Given the description of an element on the screen output the (x, y) to click on. 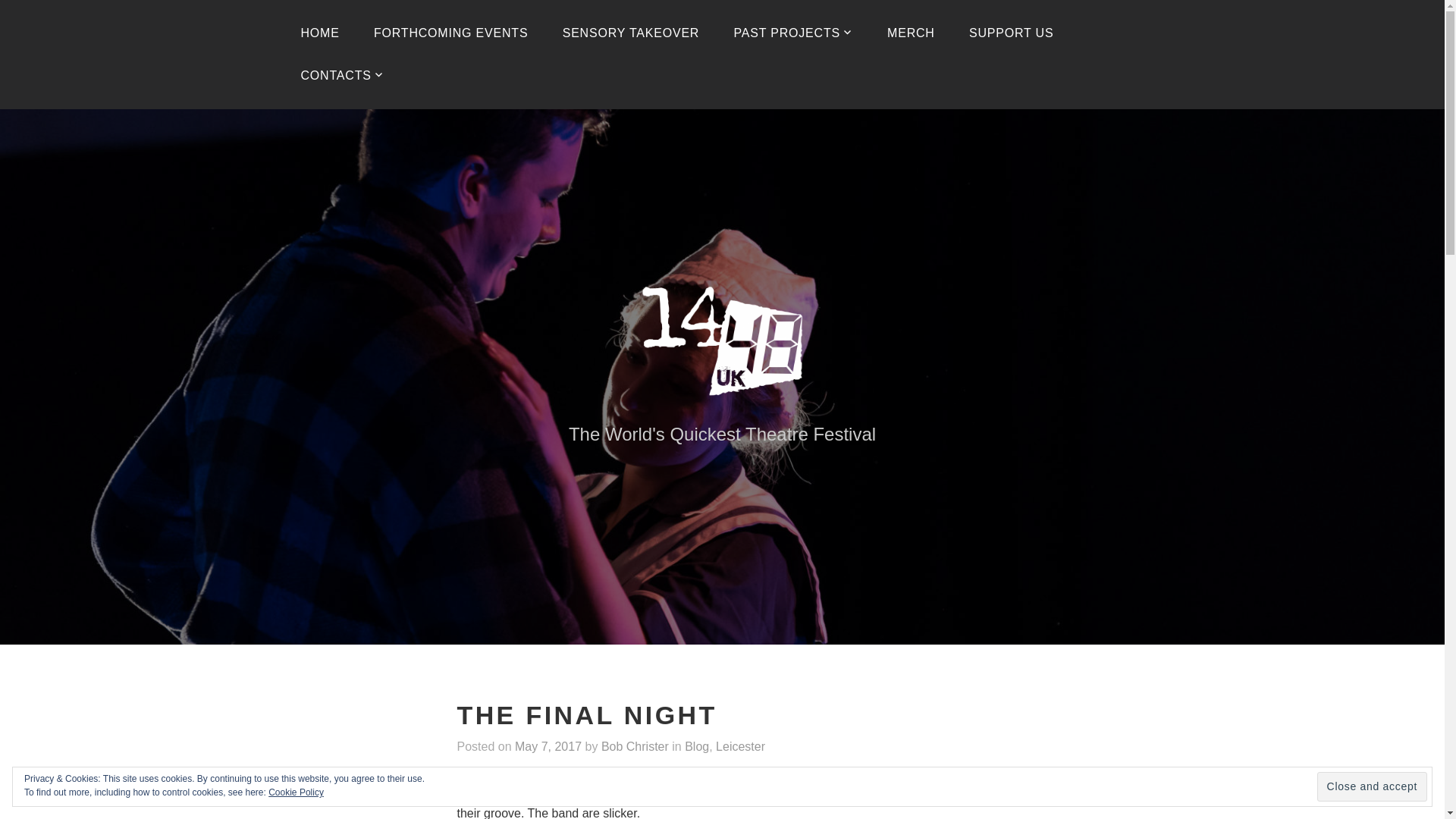
Blog (696, 747)
CONTACTS (341, 75)
SENSORY TAKEOVER (630, 33)
FORTHCOMING EVENTS (450, 33)
Bob Christer (634, 747)
Close and accept (1371, 786)
PAST PROJECTS (792, 33)
HOME (319, 33)
SUPPORT US (1010, 33)
Leicester (740, 747)
